Given the description of an element on the screen output the (x, y) to click on. 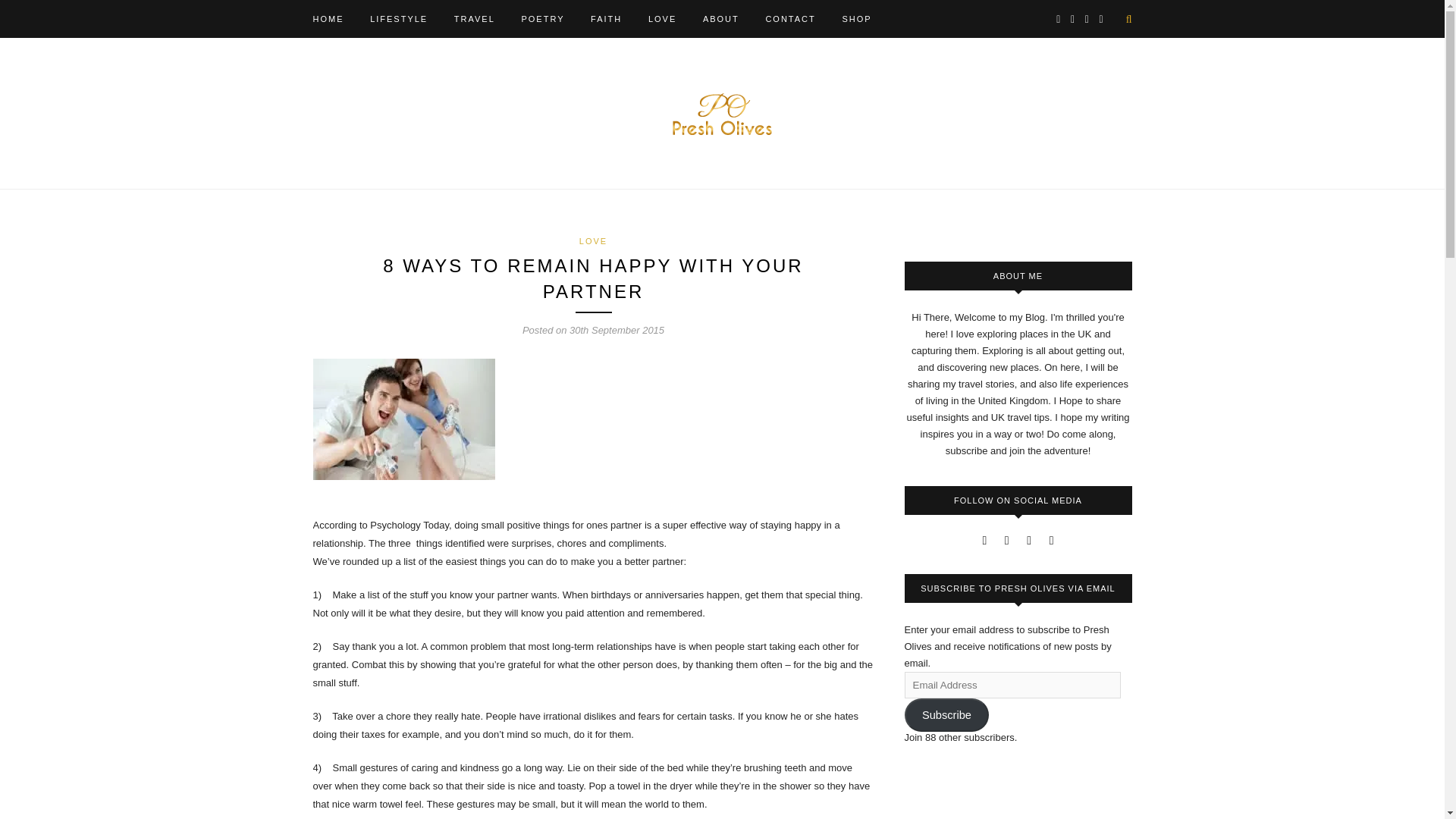
POETRY (542, 18)
images-65.jpeg (404, 418)
ABOUT (721, 18)
LOVE (593, 240)
CONTACT (790, 18)
LIFESTYLE (398, 18)
TRAVEL (474, 18)
